Given the description of an element on the screen output the (x, y) to click on. 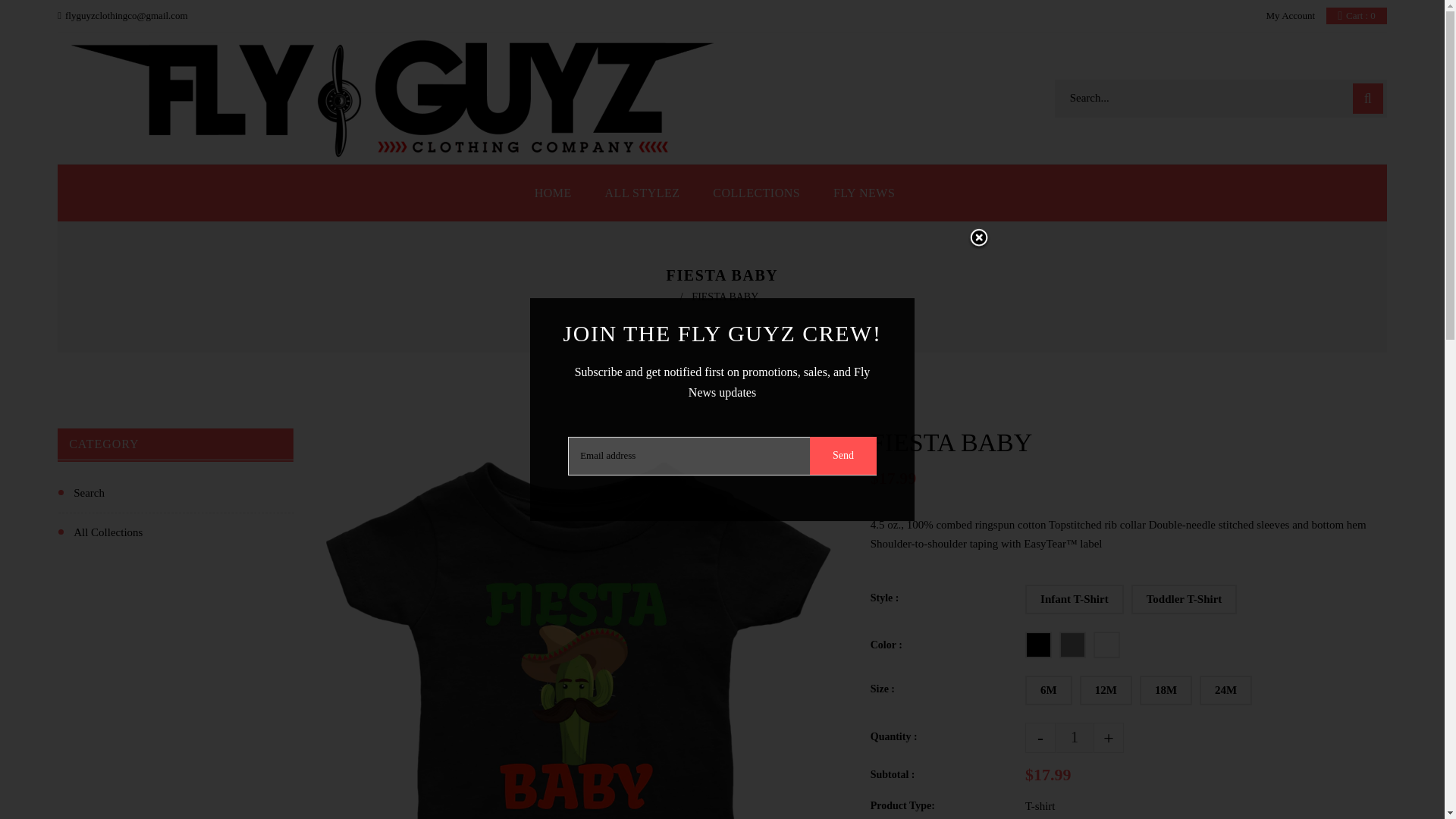
FLY NEWS (864, 192)
1 (1074, 737)
All Collections (176, 528)
ALL STYLEZ (642, 192)
HOME (1356, 15)
COLLECTIONS (560, 192)
Close Window (756, 192)
Search (968, 239)
